Given the description of an element on the screen output the (x, y) to click on. 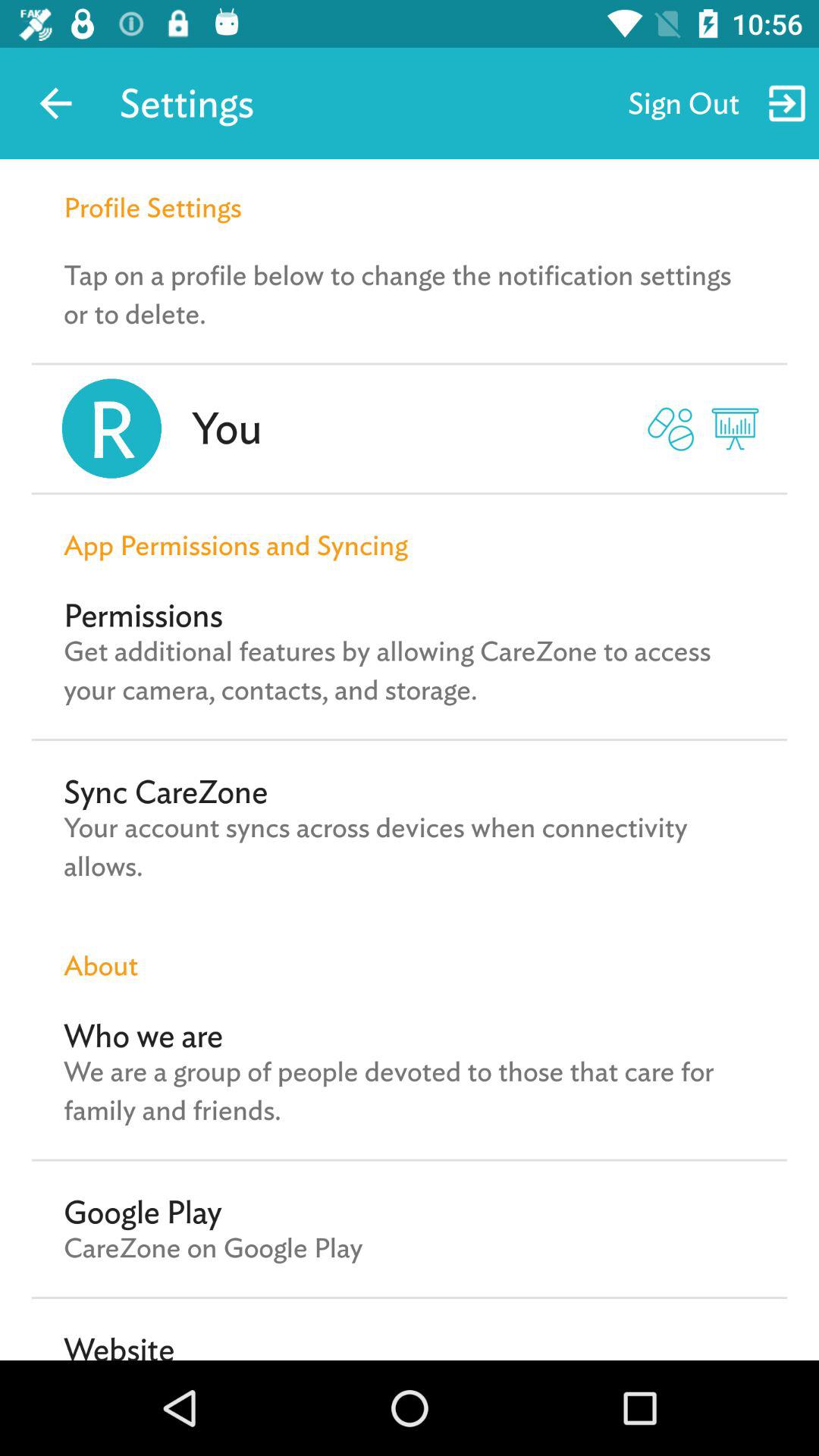
turn off item below the your account syncs (409, 949)
